Given the description of an element on the screen output the (x, y) to click on. 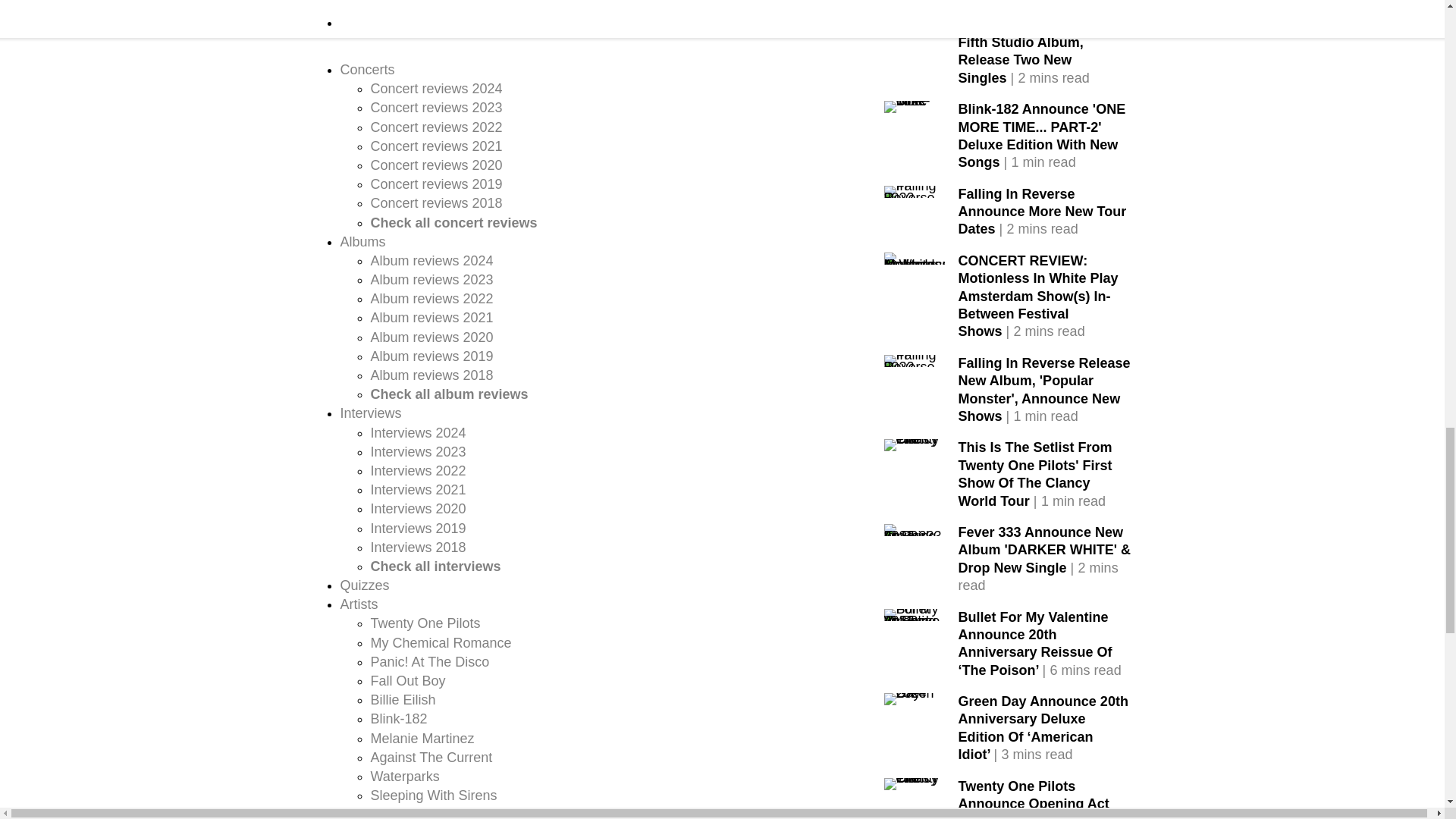
Motionless In White Melkweg Amsterdam-9 - Strife Mag (913, 258)
State Champs - Strife Mag (913, 22)
Falling In Reverse 2022 - Strife Mag (913, 191)
Blink-182 - Strife Mag (913, 106)
